Given the description of an element on the screen output the (x, y) to click on. 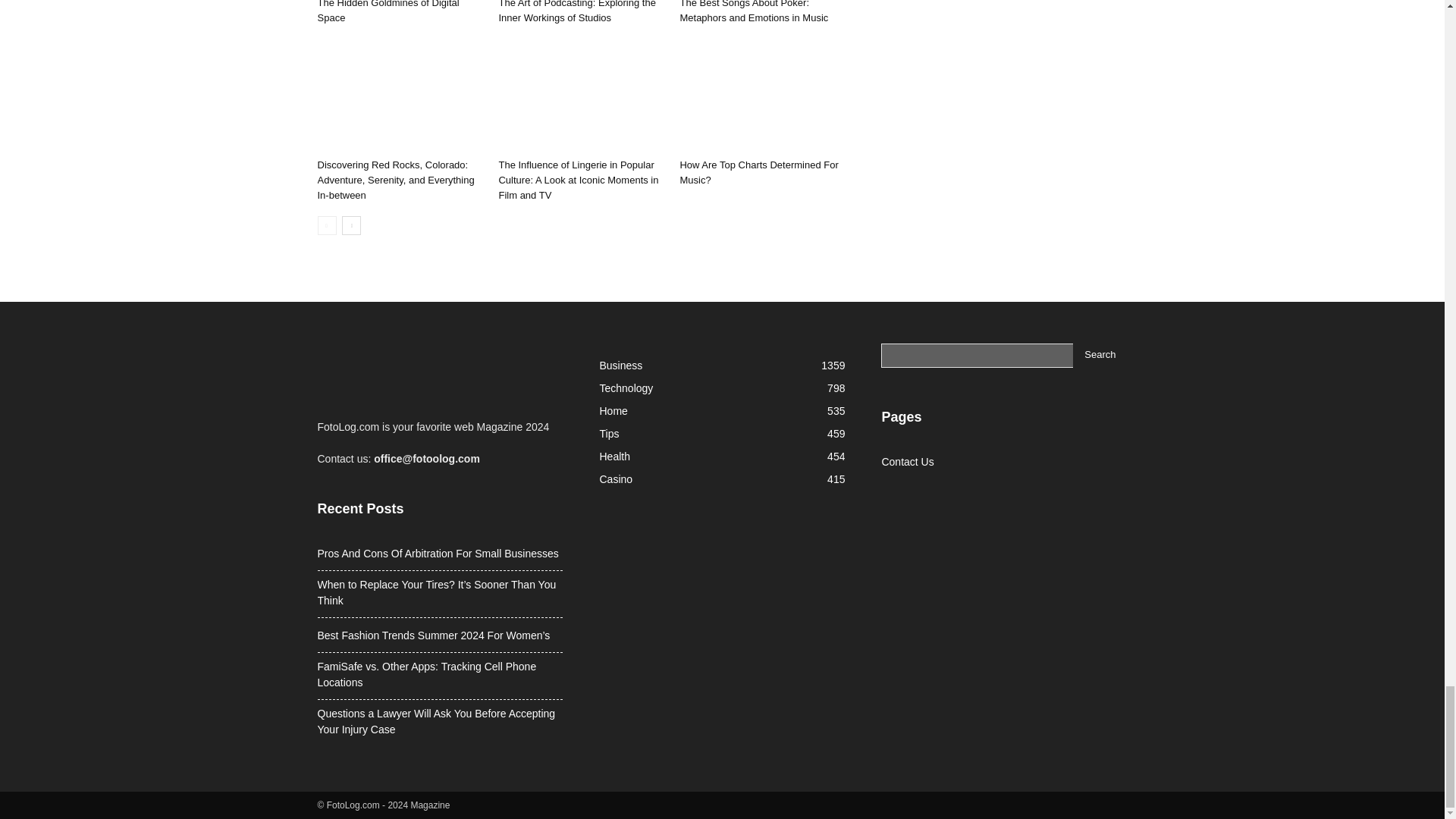
The Best Songs About Poker: Metaphors and Emotions in Music (753, 11)
The Hidden Goldmines of Digital Space (387, 11)
Search (1099, 355)
